Given the description of an element on the screen output the (x, y) to click on. 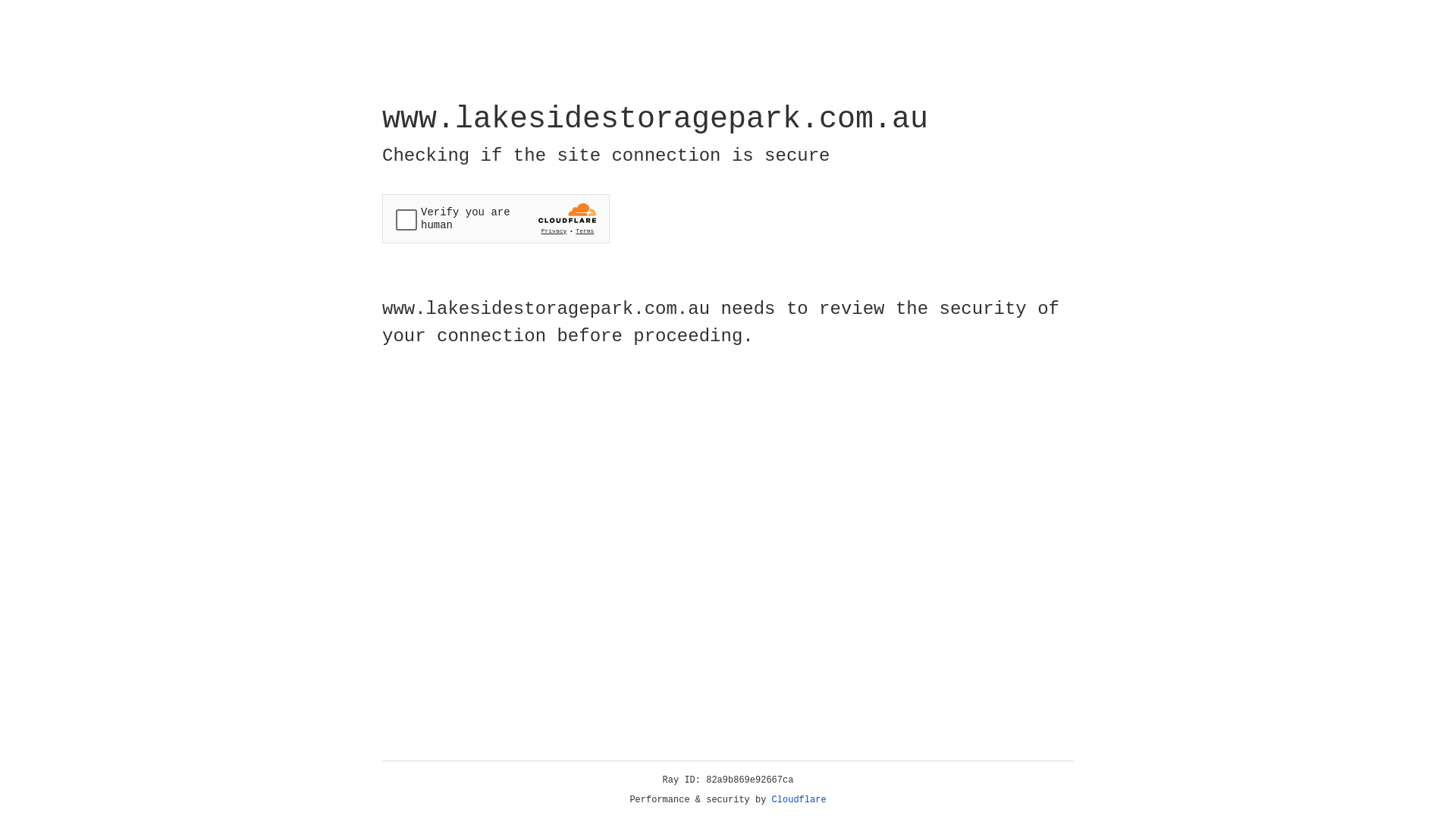
Cloudflare Element type: text (798, 799)
Widget containing a Cloudflare security challenge Element type: hover (495, 218)
